Given the description of an element on the screen output the (x, y) to click on. 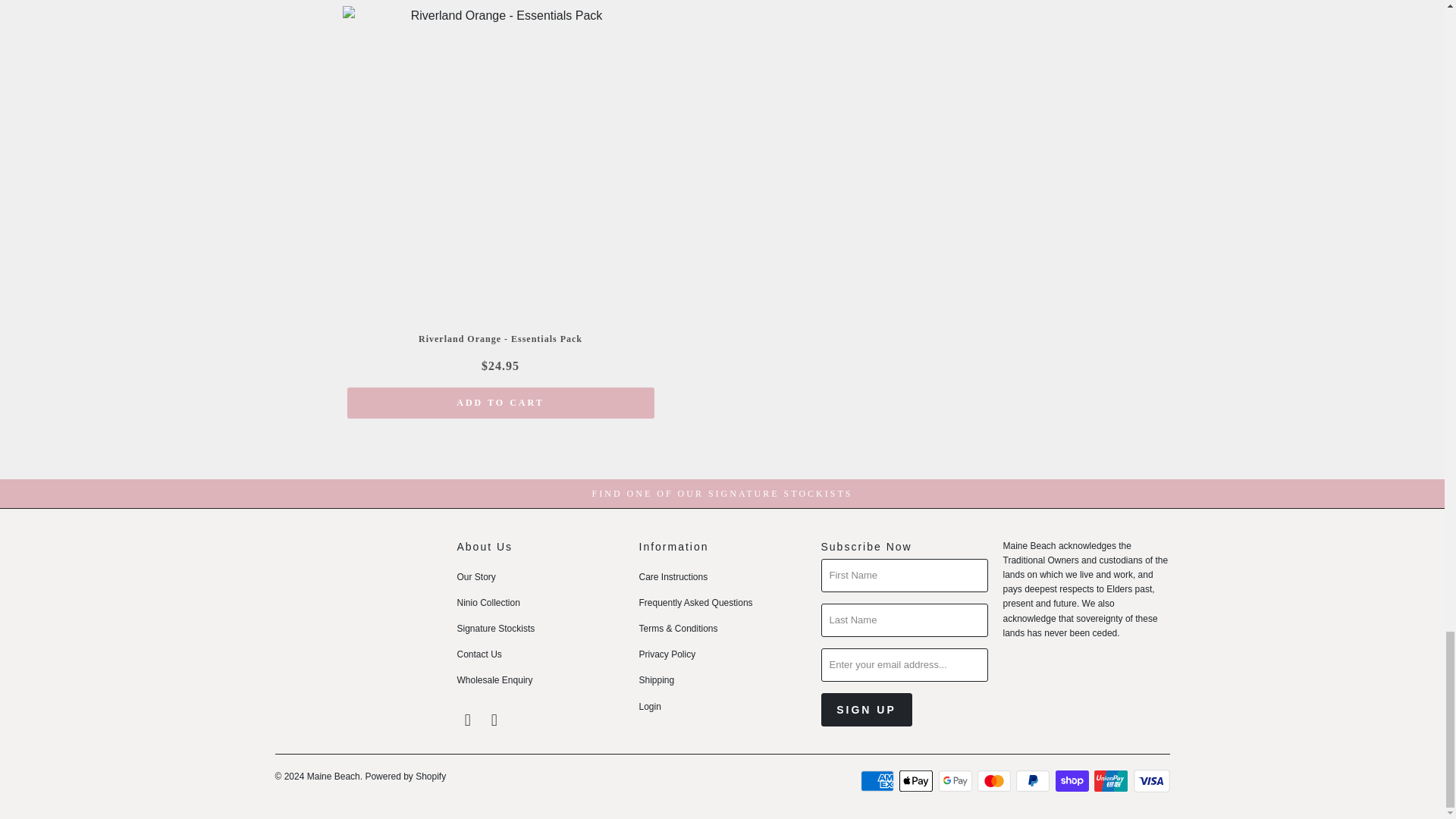
Mastercard (994, 780)
American Express (878, 780)
PayPal (1034, 780)
Apple Pay (917, 780)
Visa (1150, 780)
Union Pay (1112, 780)
Google Pay (957, 780)
Sign Up (866, 709)
Maine Beach on Instagram (494, 720)
Shop Pay (1073, 780)
